Given the description of an element on the screen output the (x, y) to click on. 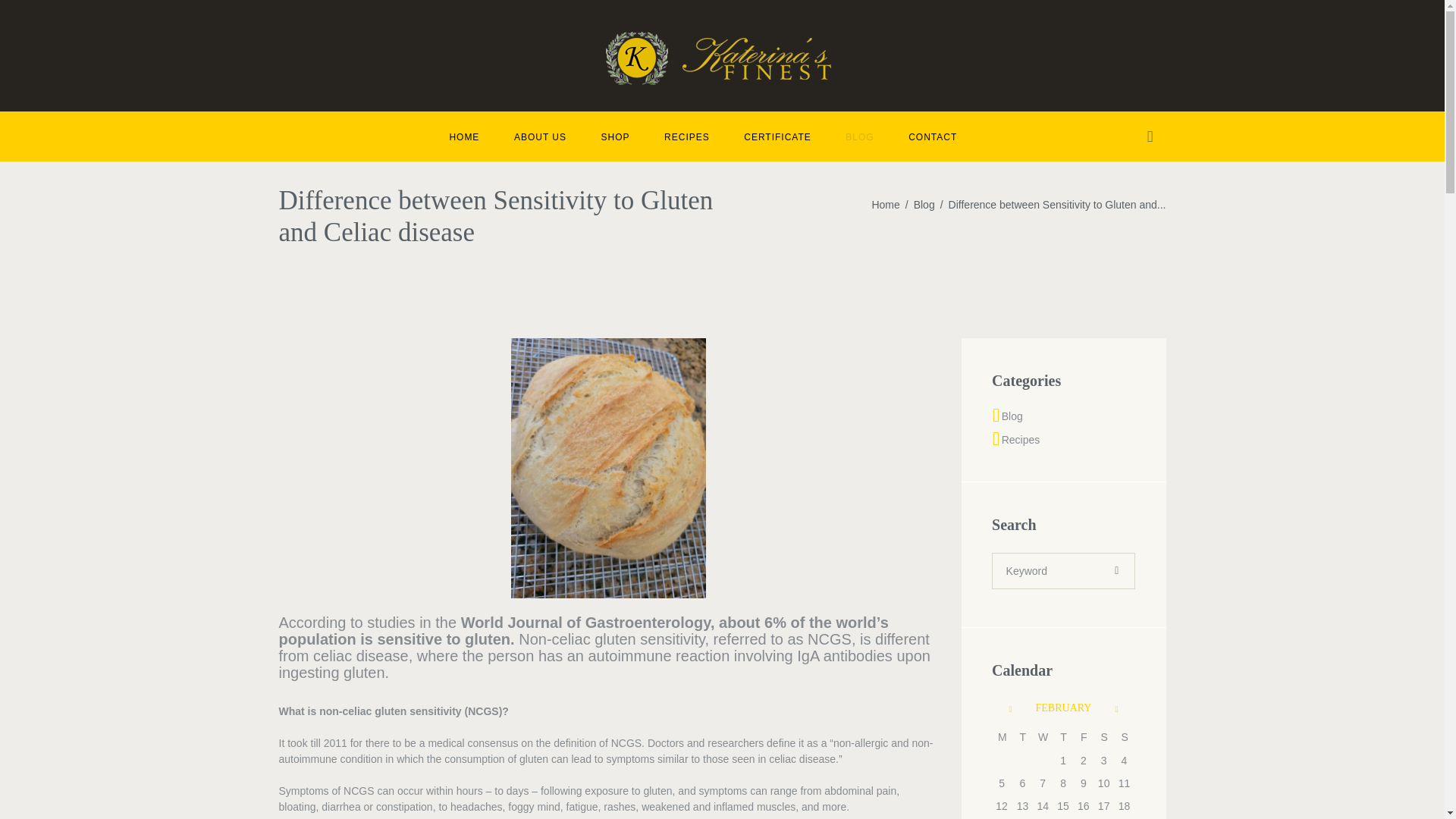
Home (884, 204)
View posts for February 2024 (1063, 707)
SHOP (615, 135)
Blog (924, 204)
BLOG (859, 135)
CERTIFICATE (777, 135)
Search for: (1063, 570)
ABOUT US (539, 135)
CONTACT (932, 135)
Recipes (1021, 439)
HOME (464, 135)
View posts for June 2024 (1123, 709)
Blog (1012, 416)
RECIPES (686, 135)
View posts for January 2024 (1001, 709)
